Given the description of an element on the screen output the (x, y) to click on. 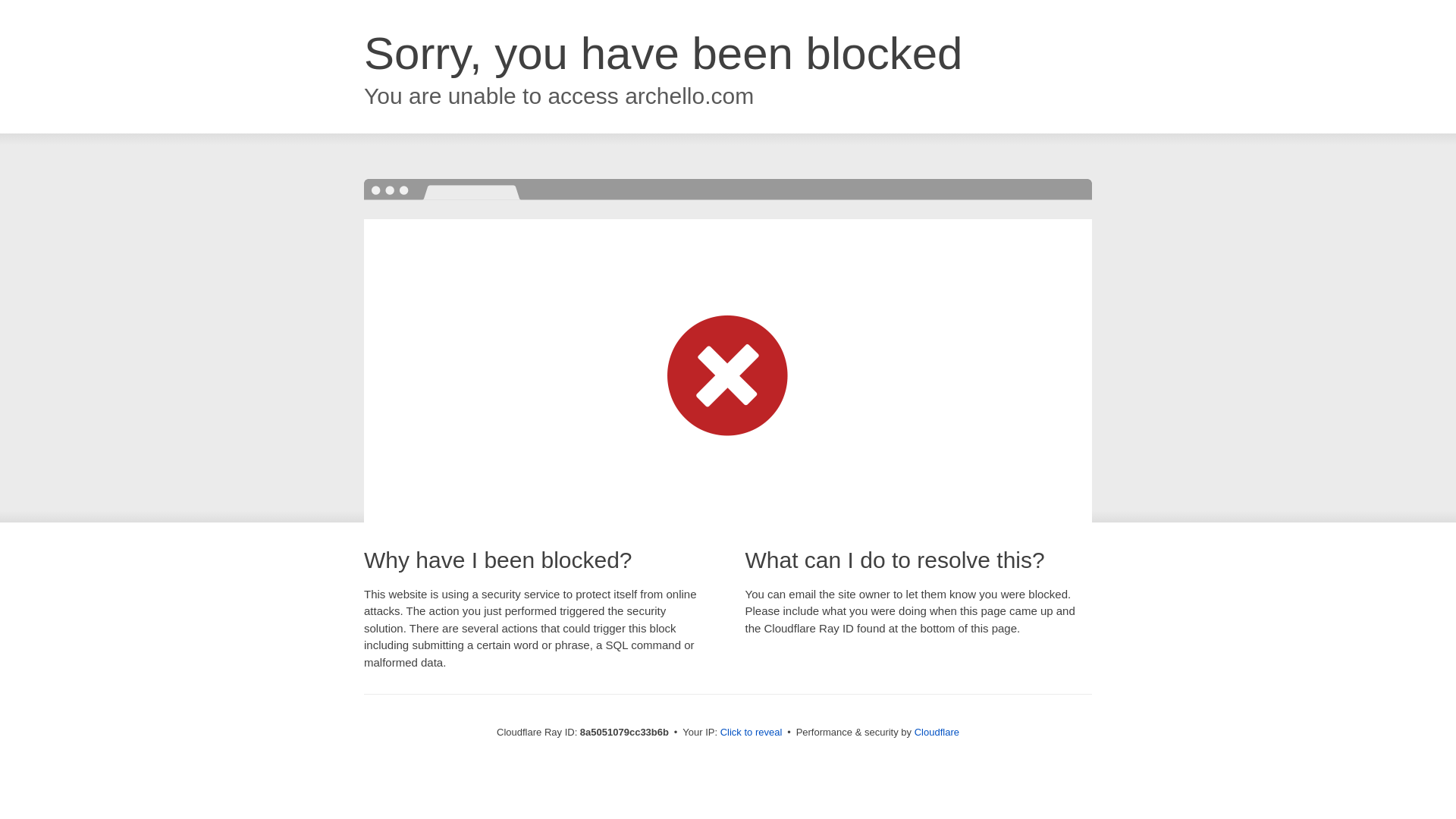
Cloudflare (936, 731)
Click to reveal (751, 732)
